Given the description of an element on the screen output the (x, y) to click on. 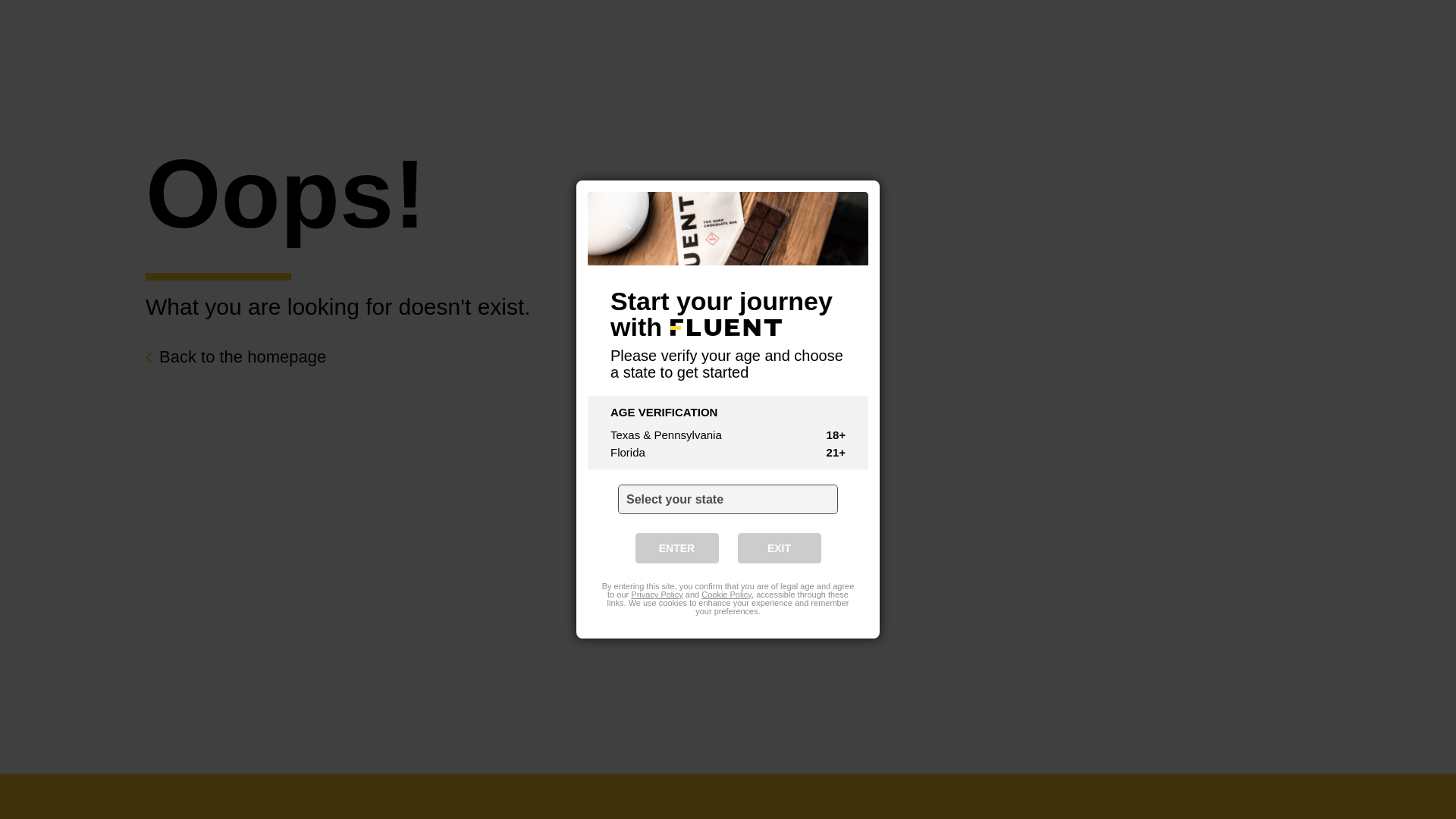
EXIT (778, 434)
Back to the homepage (235, 356)
Cookie Policy (726, 480)
ENTER (676, 434)
Privacy Policy (656, 480)
